Given the description of an element on the screen output the (x, y) to click on. 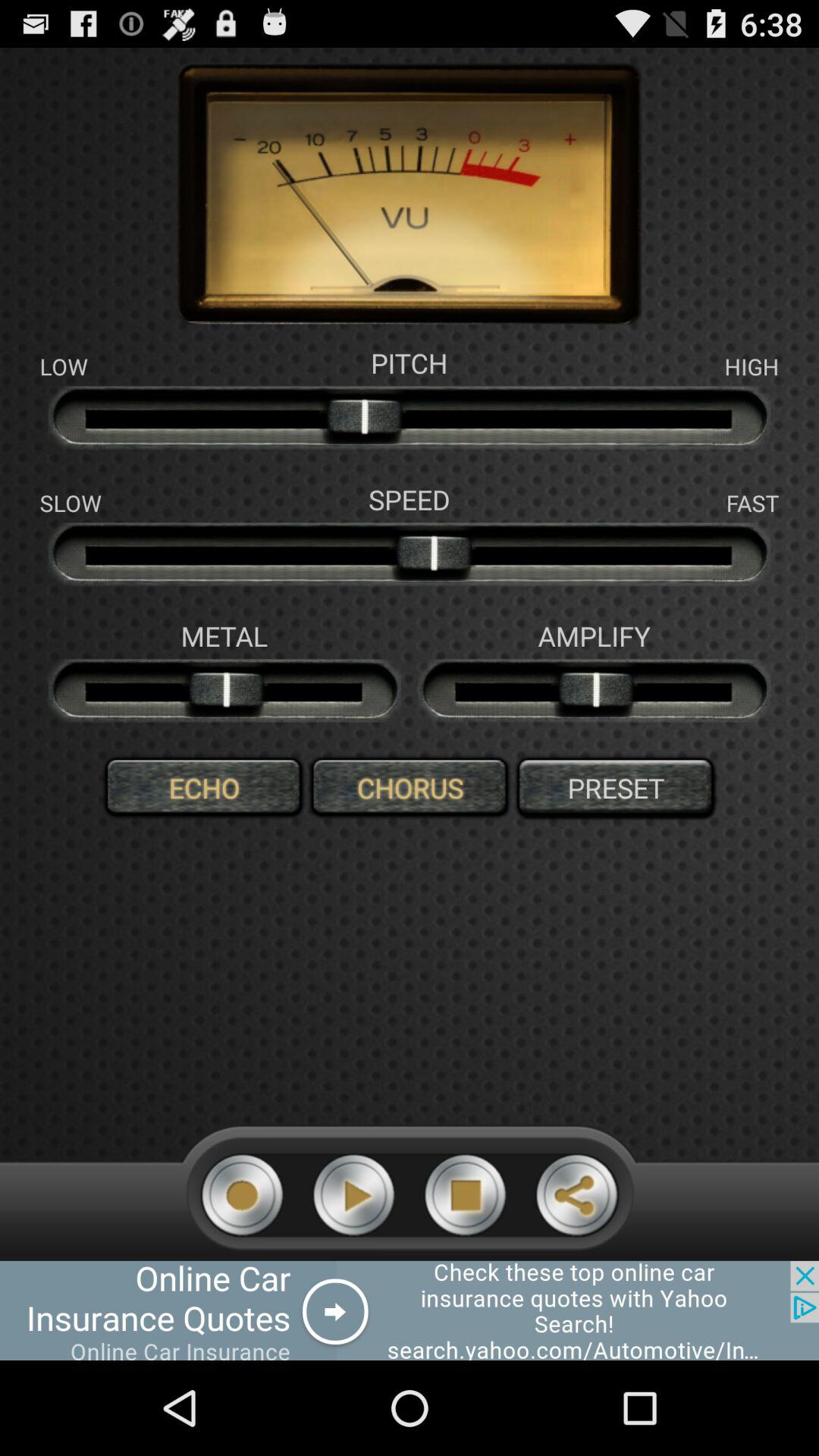
share (576, 1195)
